Given the description of an element on the screen output the (x, y) to click on. 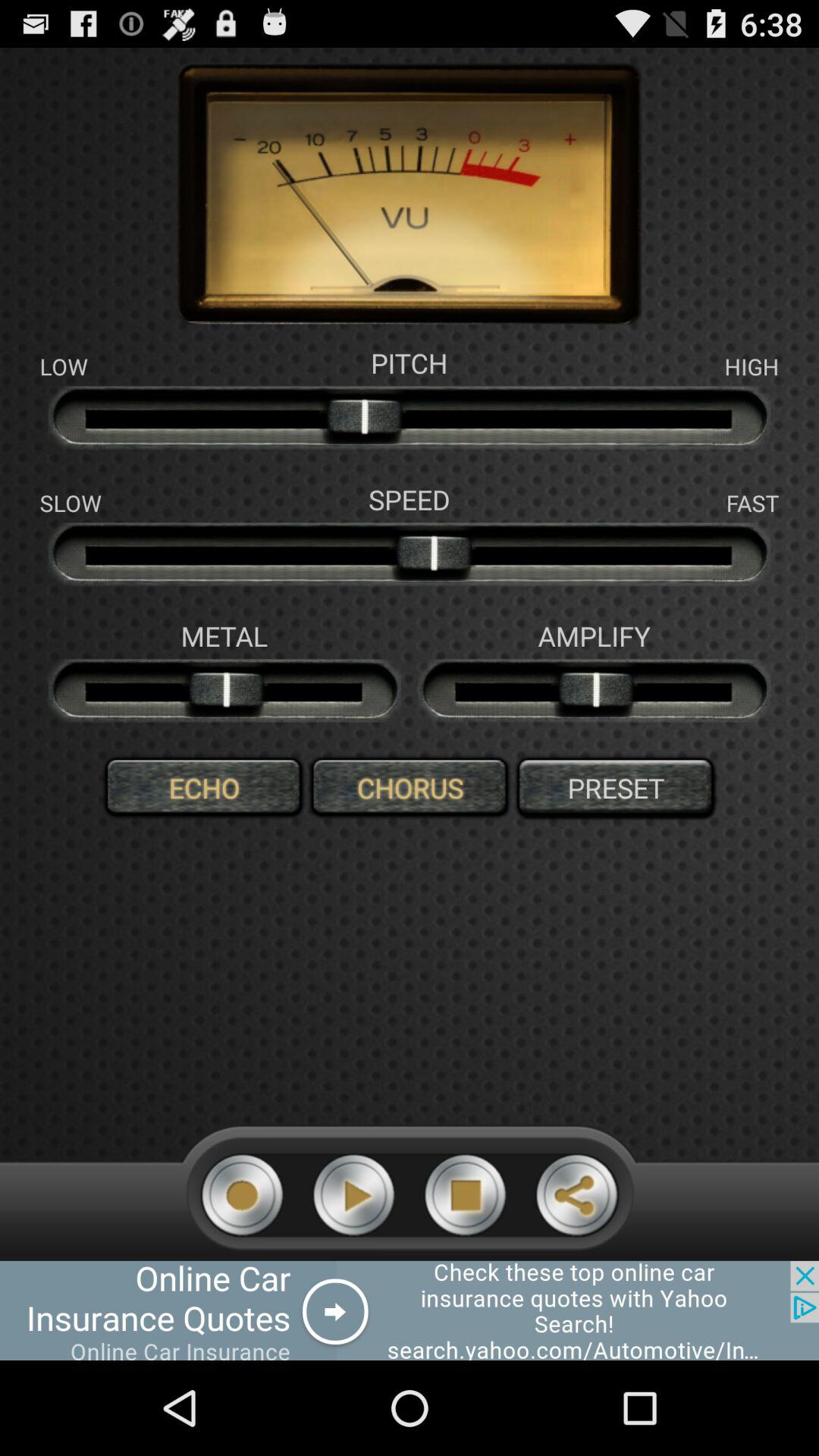
share (576, 1195)
